Given the description of an element on the screen output the (x, y) to click on. 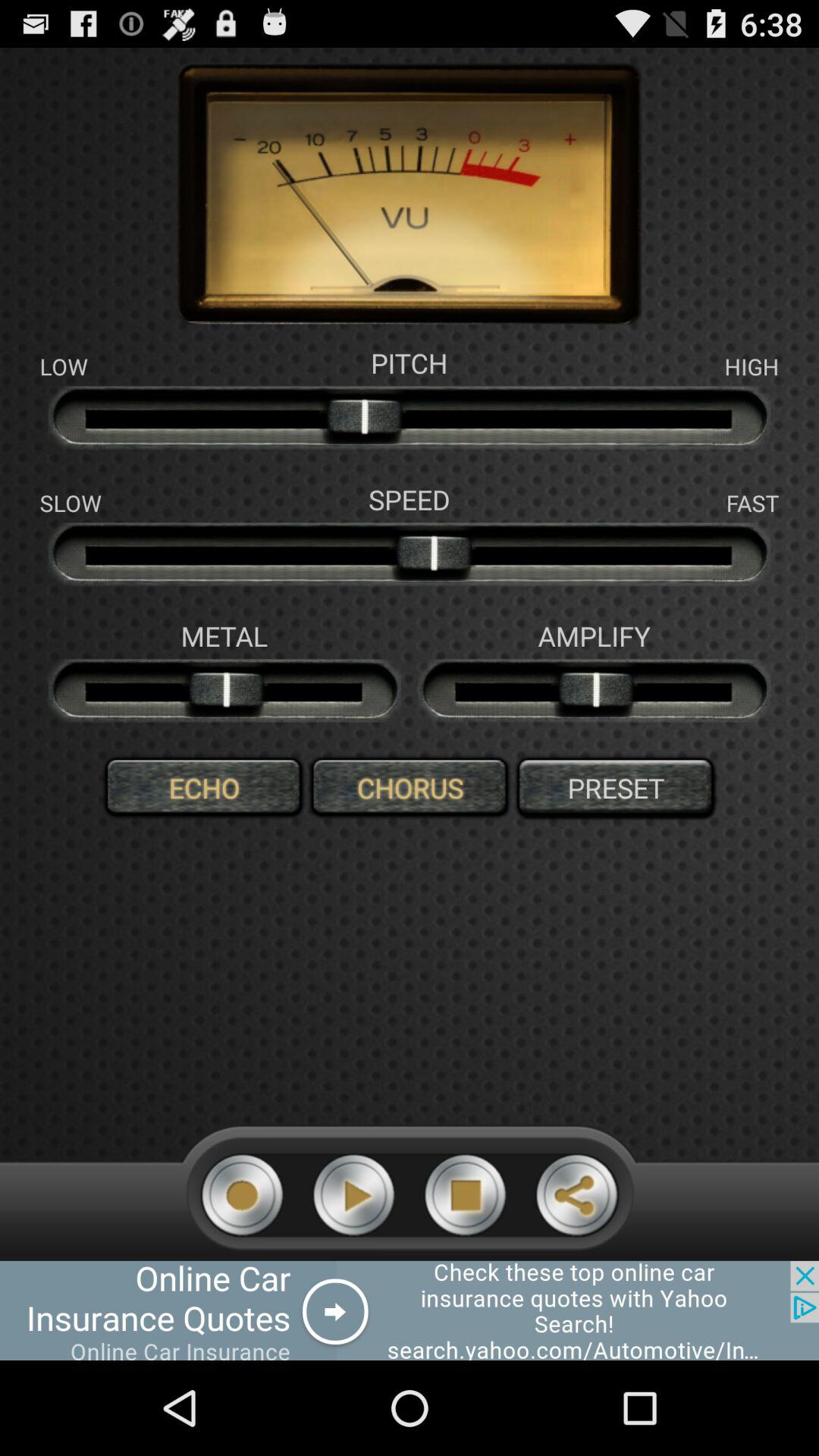
share (576, 1195)
